Given the description of an element on the screen output the (x, y) to click on. 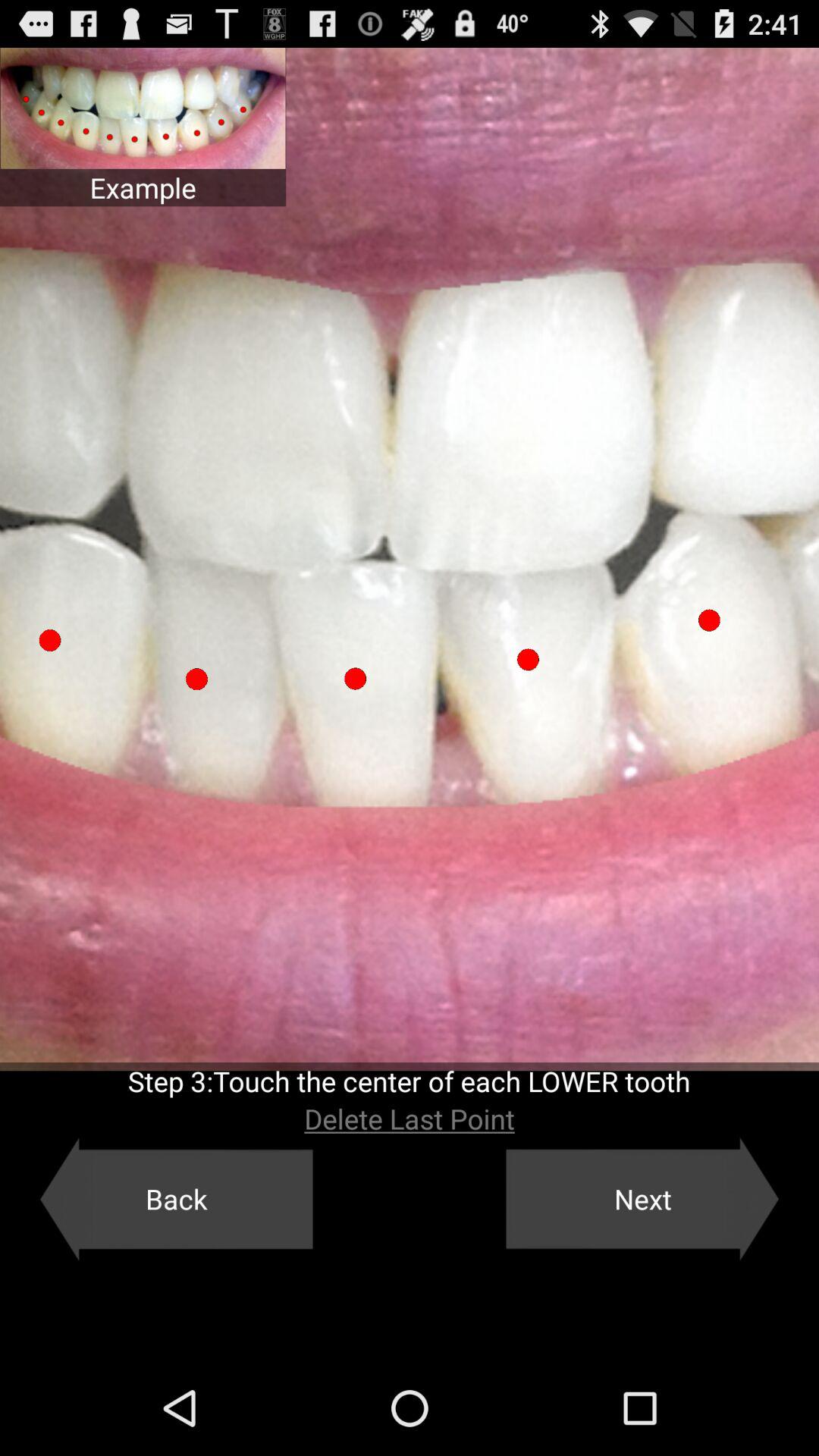
choose the item to the right of the back button (642, 1198)
